Given the description of an element on the screen output the (x, y) to click on. 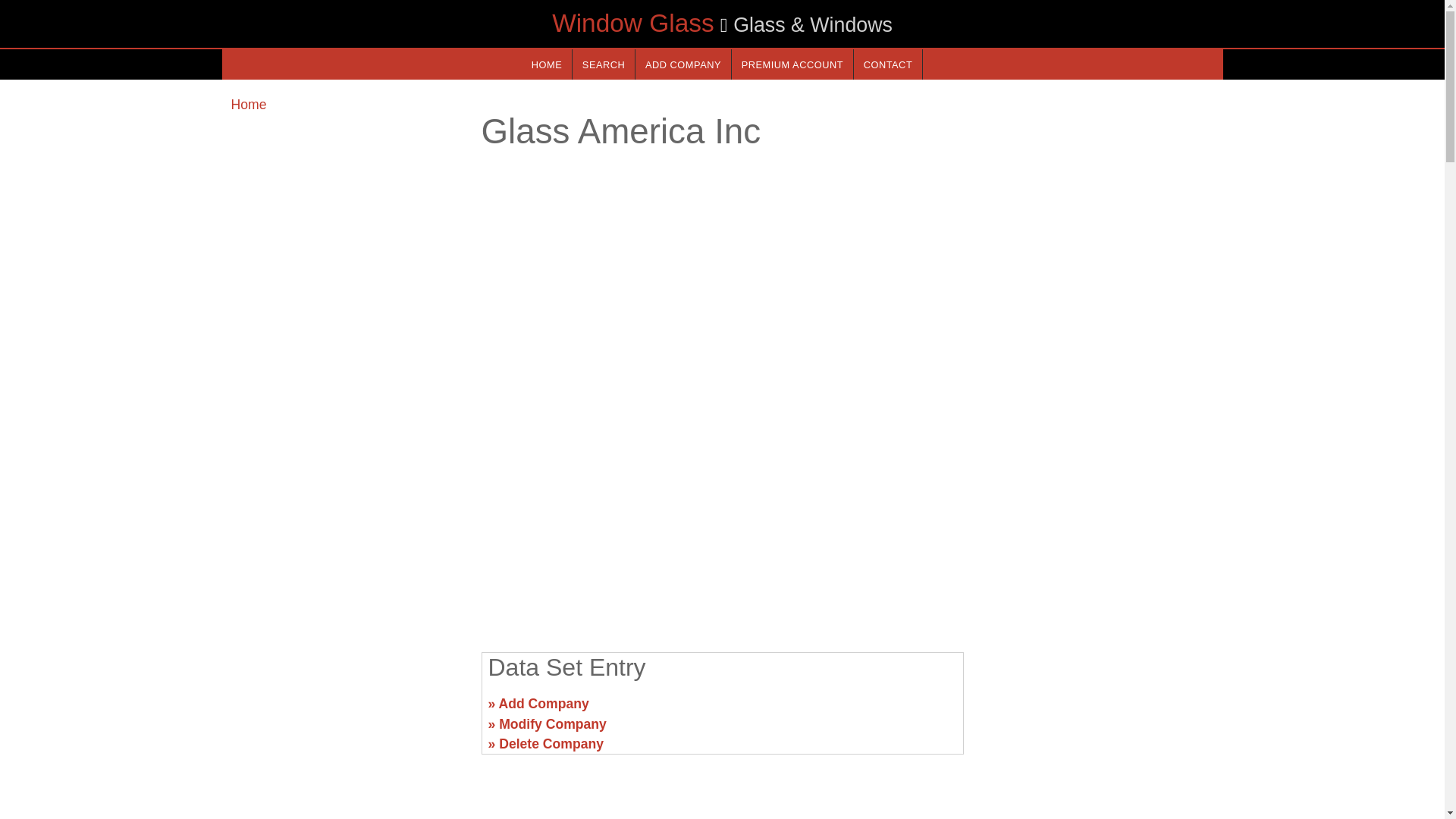
Advertisement (721, 522)
SEARCH (603, 64)
ADD COMPANY (682, 64)
Home (248, 104)
Advertisement (1096, 710)
CONTACT (887, 64)
Advertisement (346, 710)
Premium account (792, 64)
Window Glass (632, 22)
